Given the description of an element on the screen output the (x, y) to click on. 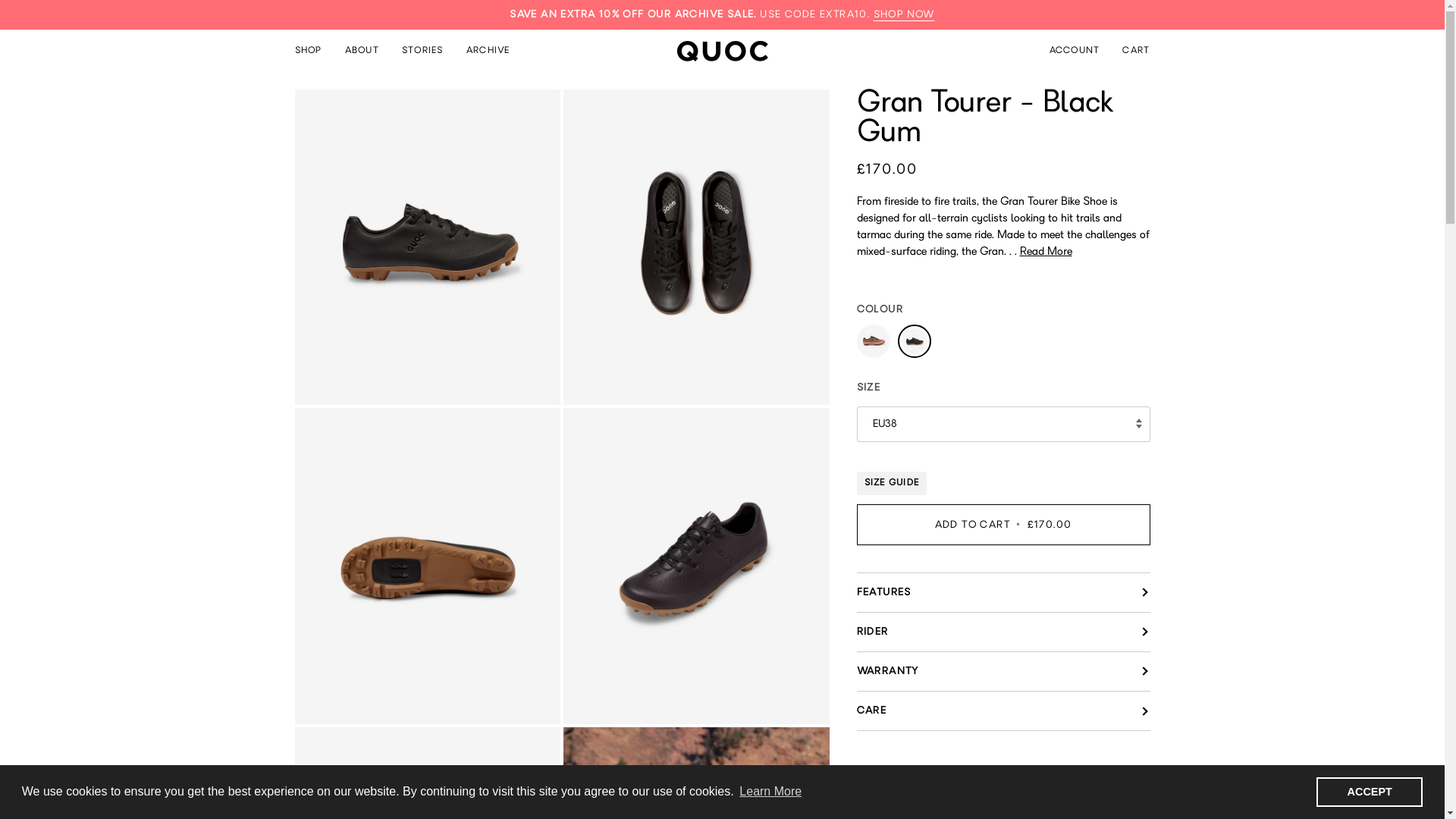
Gran Tourer - Black Gum Element type: text (914, 344)
WARRANTY Element type: text (1003, 671)
ACCOUNT Element type: text (1074, 50)
ABOUT Element type: text (361, 50)
Learn More Element type: text (770, 791)
FEATURES Element type: text (1003, 592)
Read More Element type: text (1045, 251)
SHOP NOW Element type: text (904, 14)
SIZE GUIDE Element type: text (891, 483)
RIDER Element type: text (1003, 631)
CARE Element type: text (1003, 710)
ARCHIVE Element type: text (488, 50)
ACCEPT Element type: text (1369, 791)
EU38 Element type: text (1003, 424)
STORIES Element type: text (422, 50)
CART Element type: text (1135, 50)
Gran Tourer - Pink Element type: text (876, 344)
SHOP Element type: text (313, 50)
